Given the description of an element on the screen output the (x, y) to click on. 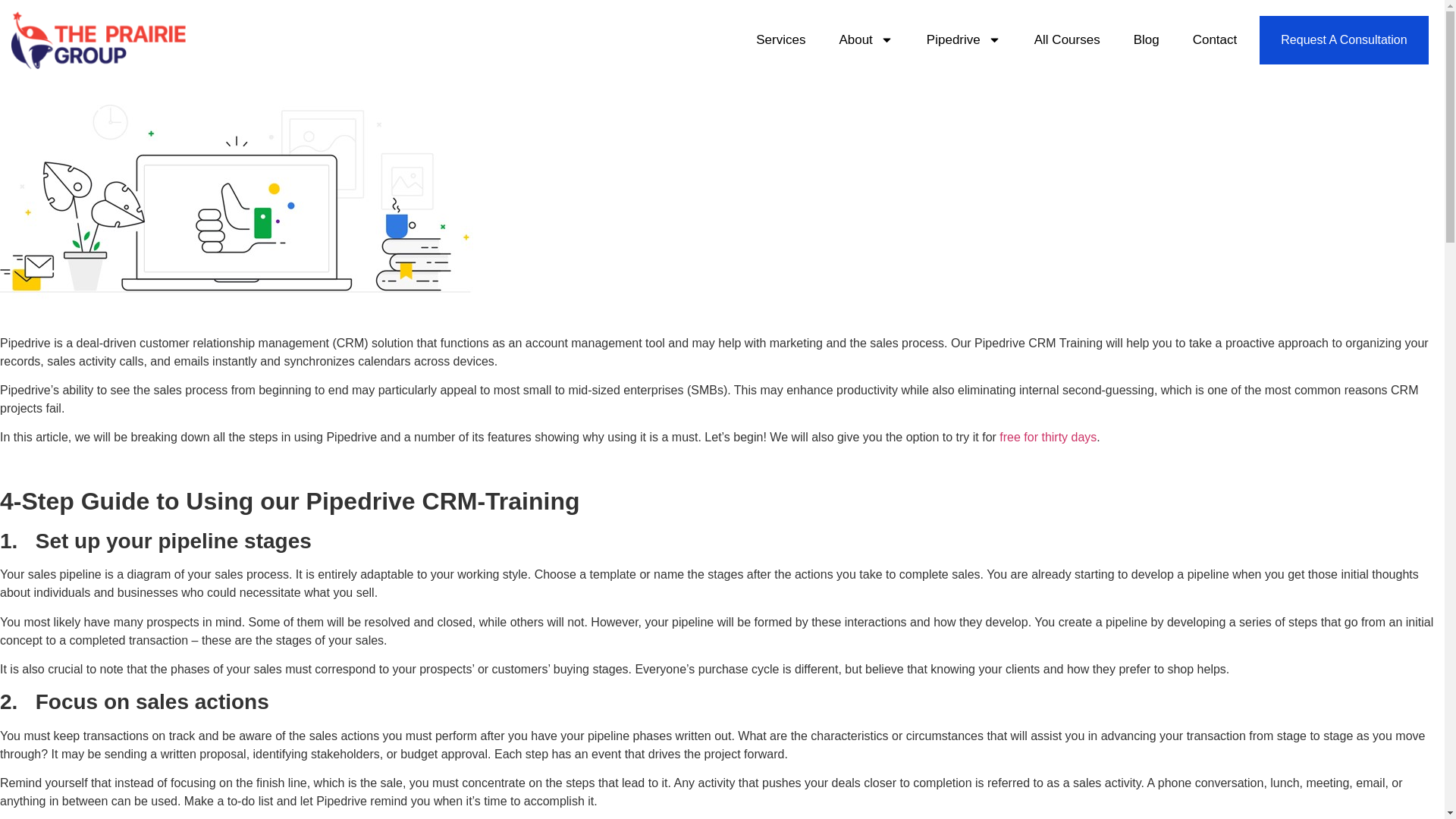
All Courses (1066, 39)
Contact (1214, 39)
Services (780, 39)
Request A Consultation (1343, 39)
Chatbot (1261, 759)
About (865, 39)
Pipedrive (963, 39)
